Given the description of an element on the screen output the (x, y) to click on. 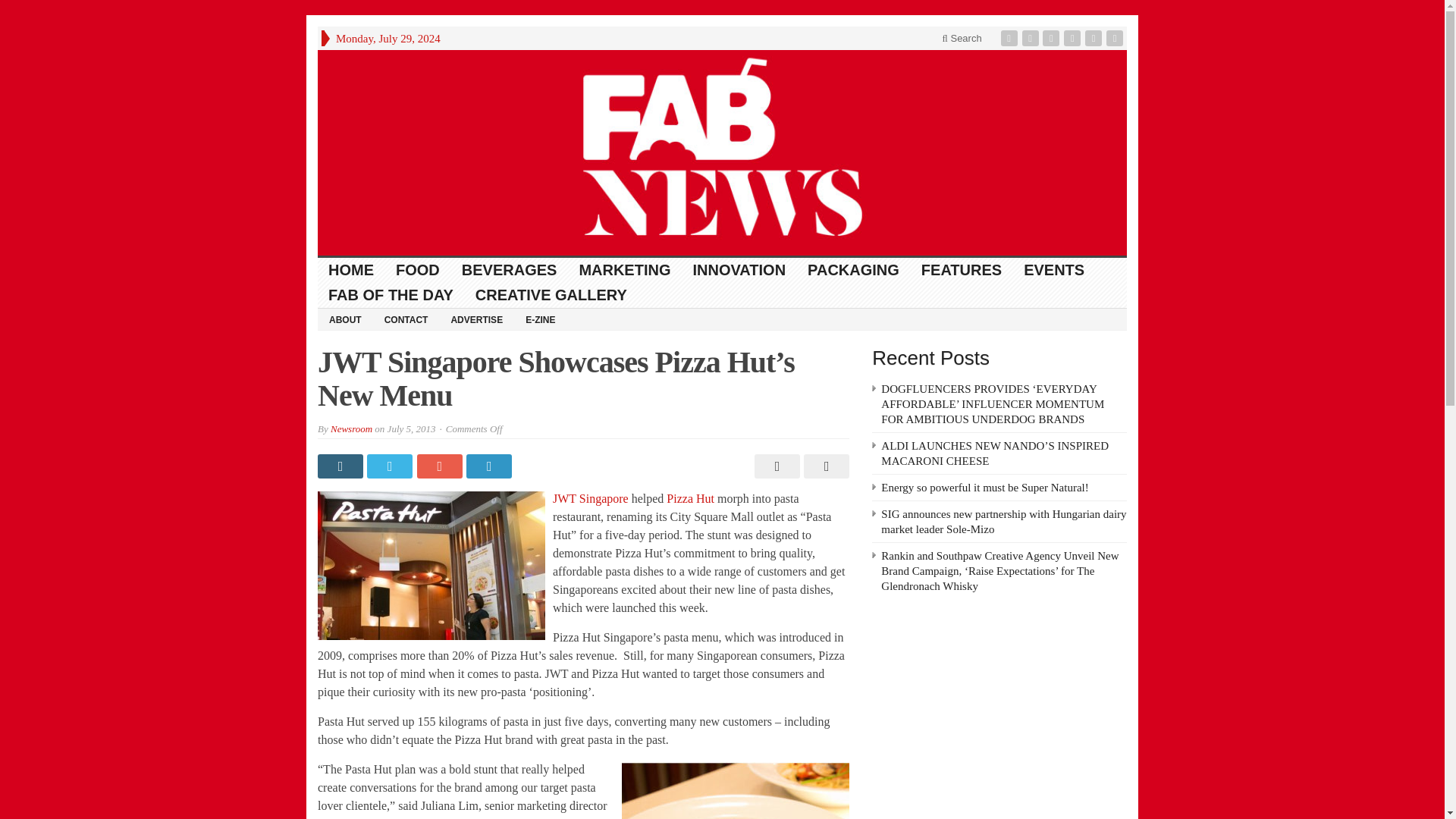
CREATIVE GALLERY (551, 294)
INNOVATION (738, 269)
Facebook (1011, 37)
ABOUT (344, 319)
Search (962, 37)
Site feed (1115, 37)
Twitter (1032, 37)
Youtube (1073, 37)
Share on Facebook (341, 466)
PACKAGING (853, 269)
BEVERAGES (510, 269)
FOOD (418, 269)
HOME (351, 269)
ADVERTISE (476, 319)
E-ZINE (539, 319)
